Given the description of an element on the screen output the (x, y) to click on. 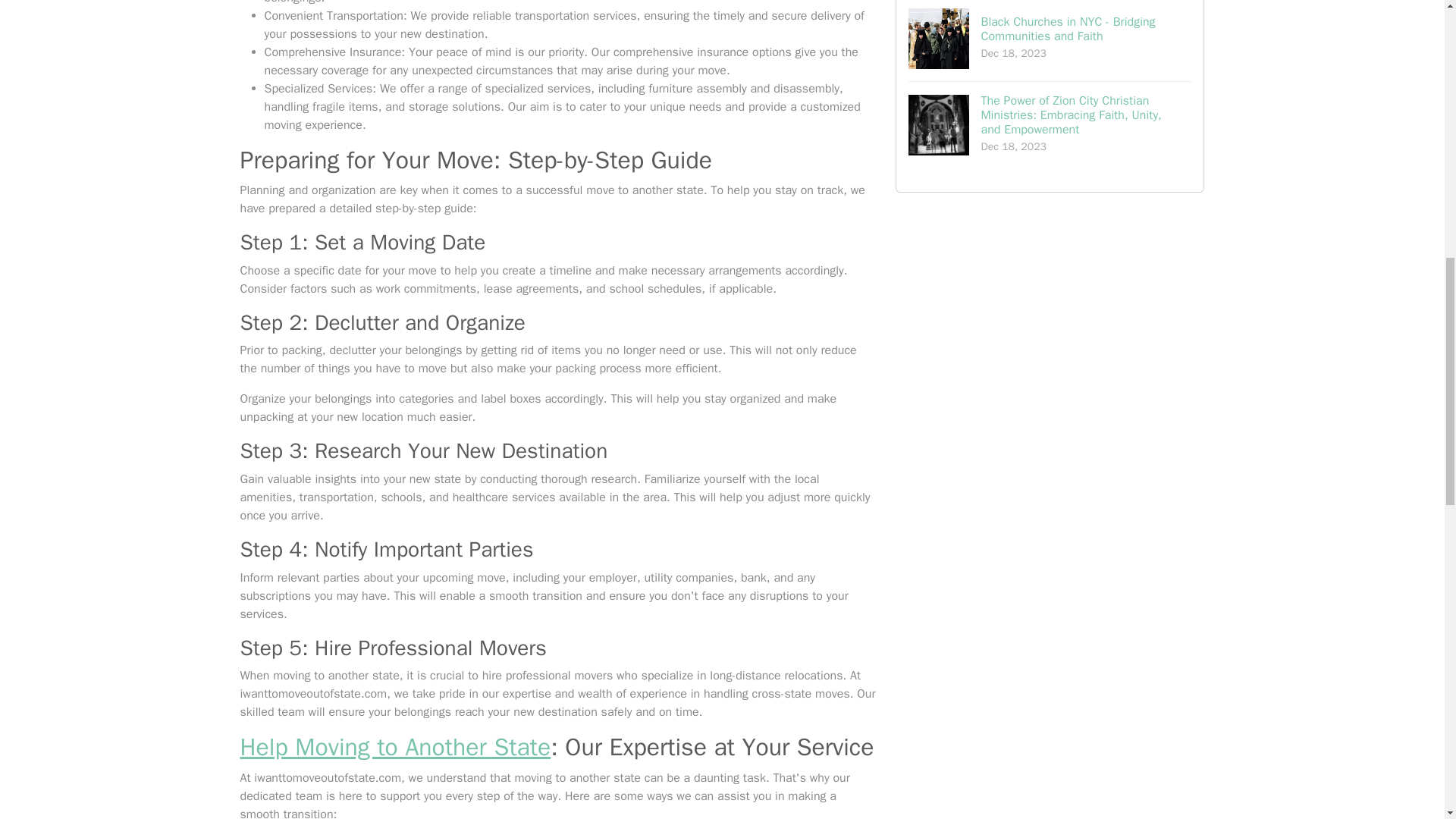
Help Moving to Another State (395, 747)
